Given the description of an element on the screen output the (x, y) to click on. 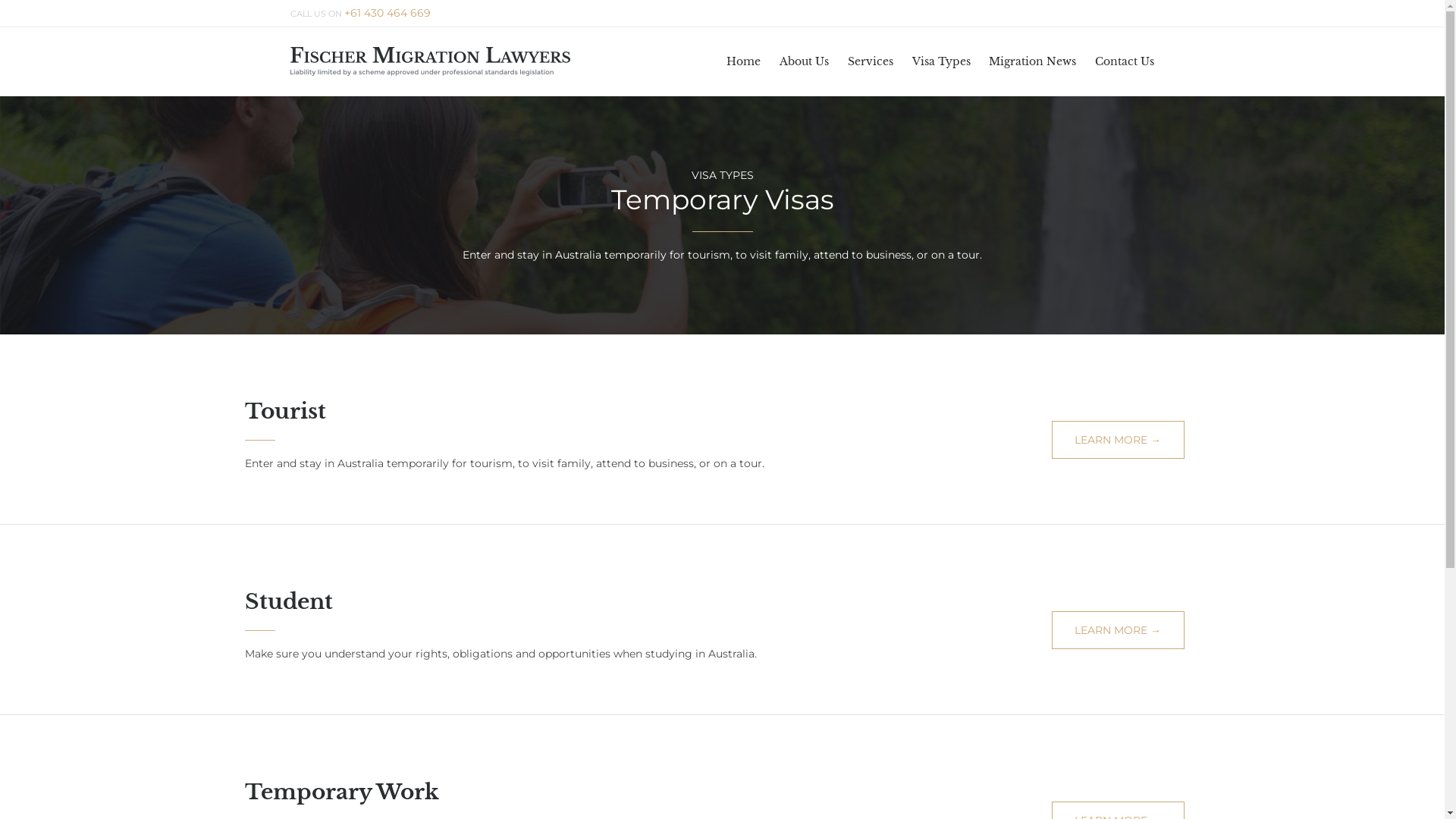
Skip to content Element type: text (1163, 41)
Visa Types Element type: text (940, 61)
Services Element type: text (869, 61)
About Us Element type: text (804, 61)
Migration News Element type: text (1032, 61)
Contact Us Element type: text (1124, 61)
Home Element type: text (743, 61)
Fischer Migration Element type: hover (429, 61)
+61 430 464 669 Element type: text (387, 13)
